Given the description of an element on the screen output the (x, y) to click on. 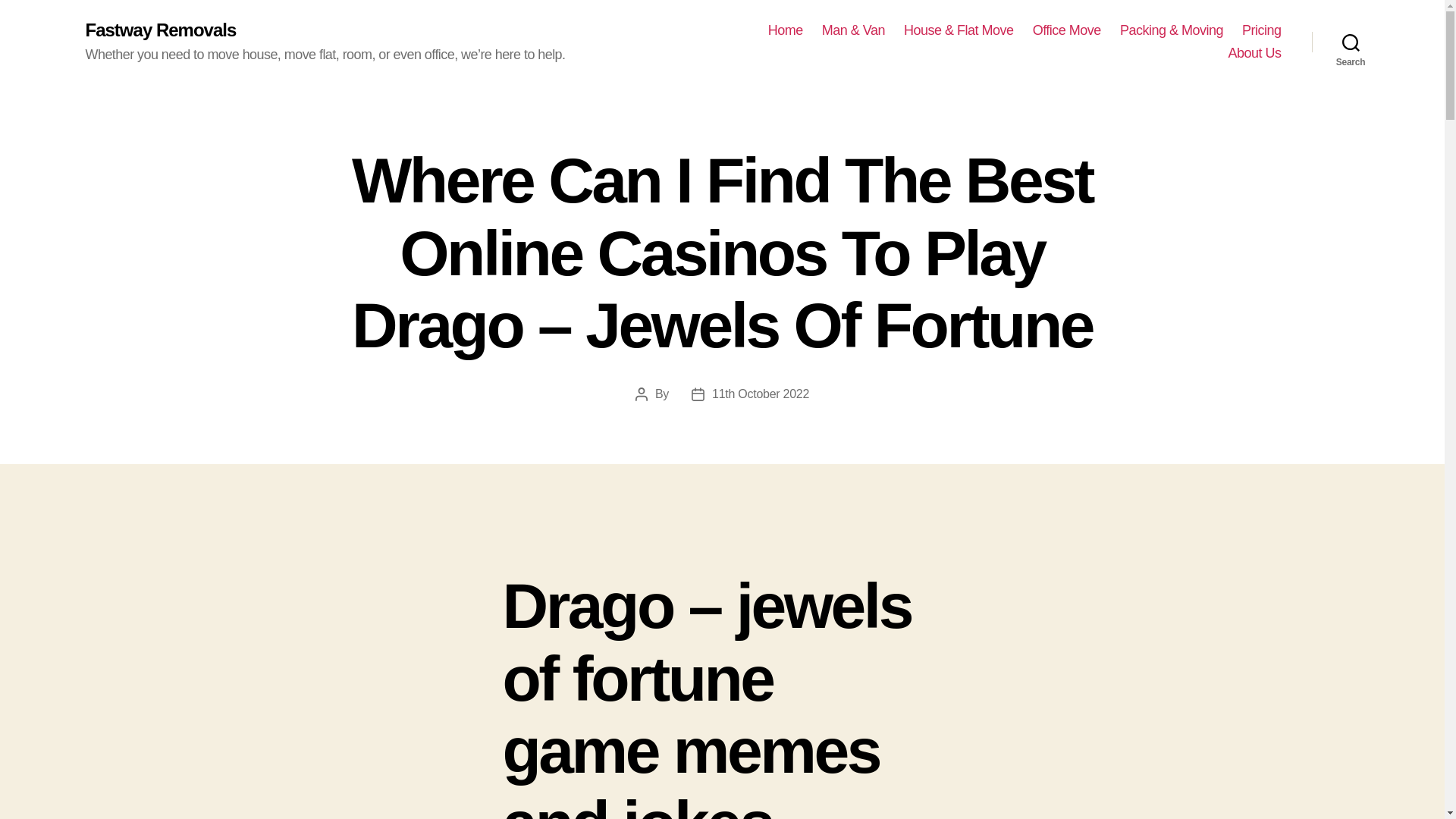
Search (1350, 41)
Home (785, 30)
About Us (1254, 53)
11th October 2022 (760, 393)
Office Move (1066, 30)
Pricing (1261, 30)
Fastway Removals (159, 30)
